Given the description of an element on the screen output the (x, y) to click on. 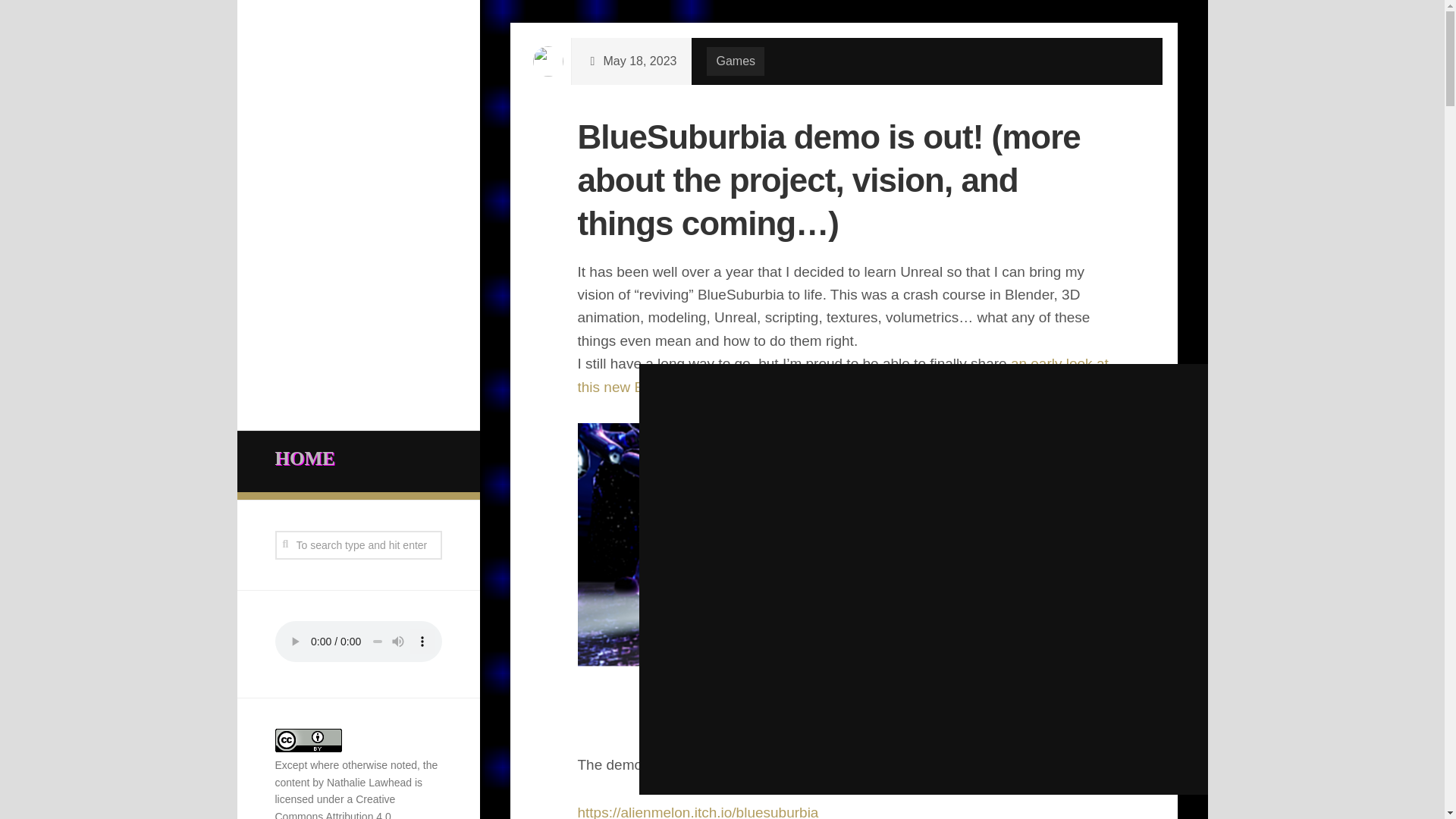
HOME (358, 458)
Creative Commons Attribution 4.0 International (334, 806)
Nathalie Lawhead (369, 782)
To search type and hit enter (358, 544)
To search type and hit enter (358, 544)
The Candybox Blog (989, 418)
